Given the description of an element on the screen output the (x, y) to click on. 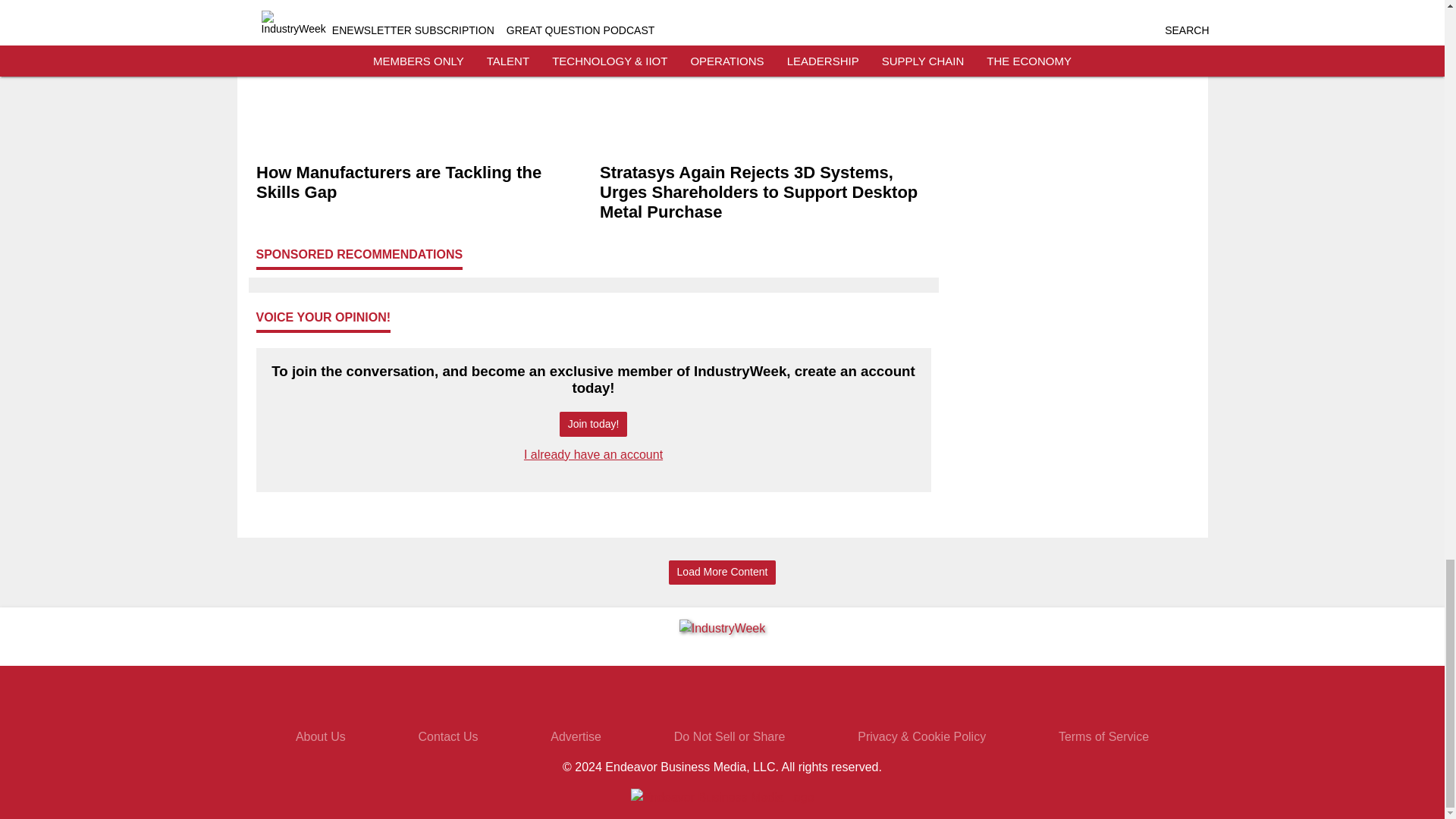
I already have an account (593, 454)
How Manufacturers are Tackling the Skills Gap (422, 182)
Join today! (593, 423)
